Given the description of an element on the screen output the (x, y) to click on. 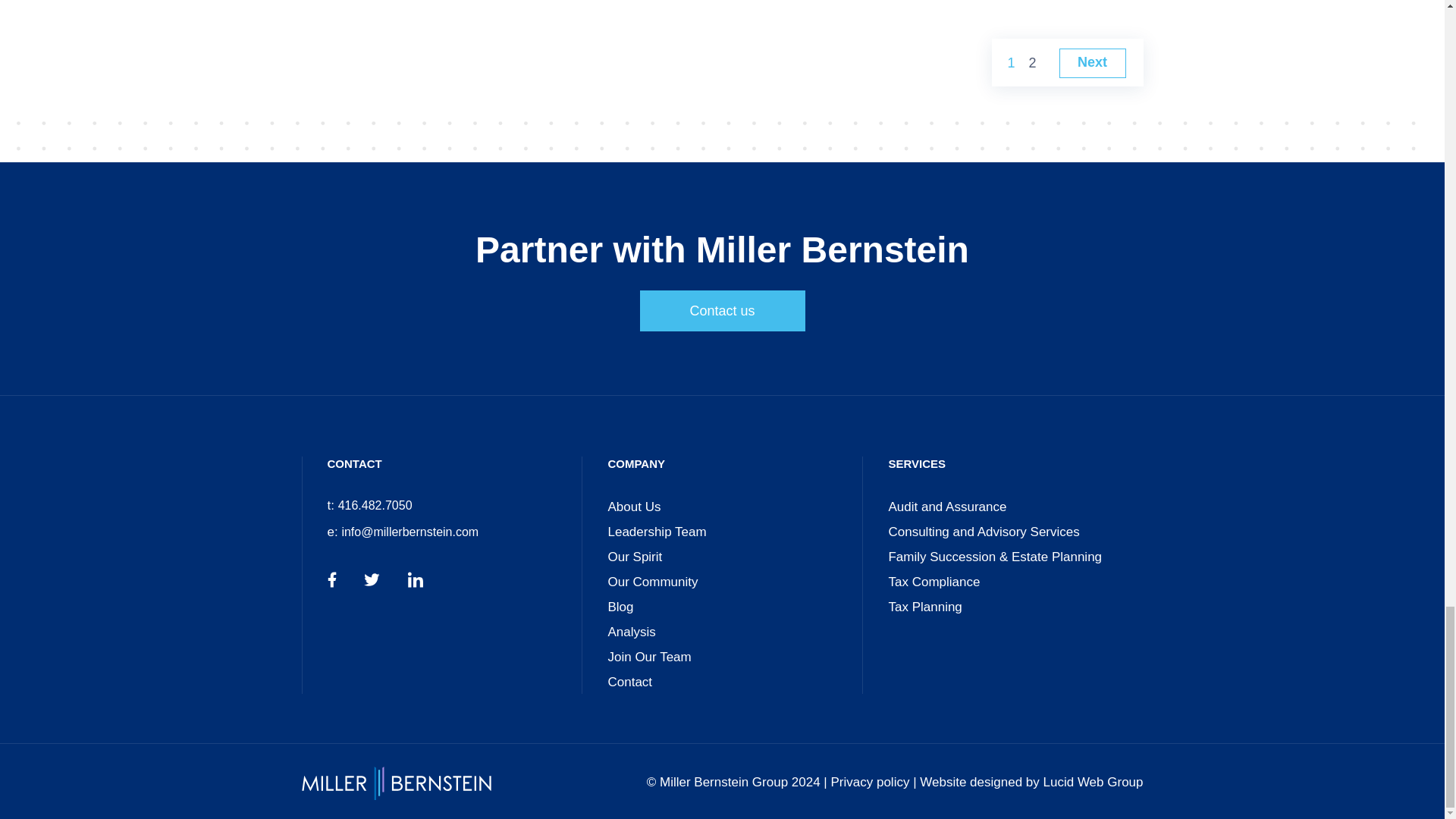
Page 2 (1031, 62)
